Given the description of an element on the screen output the (x, y) to click on. 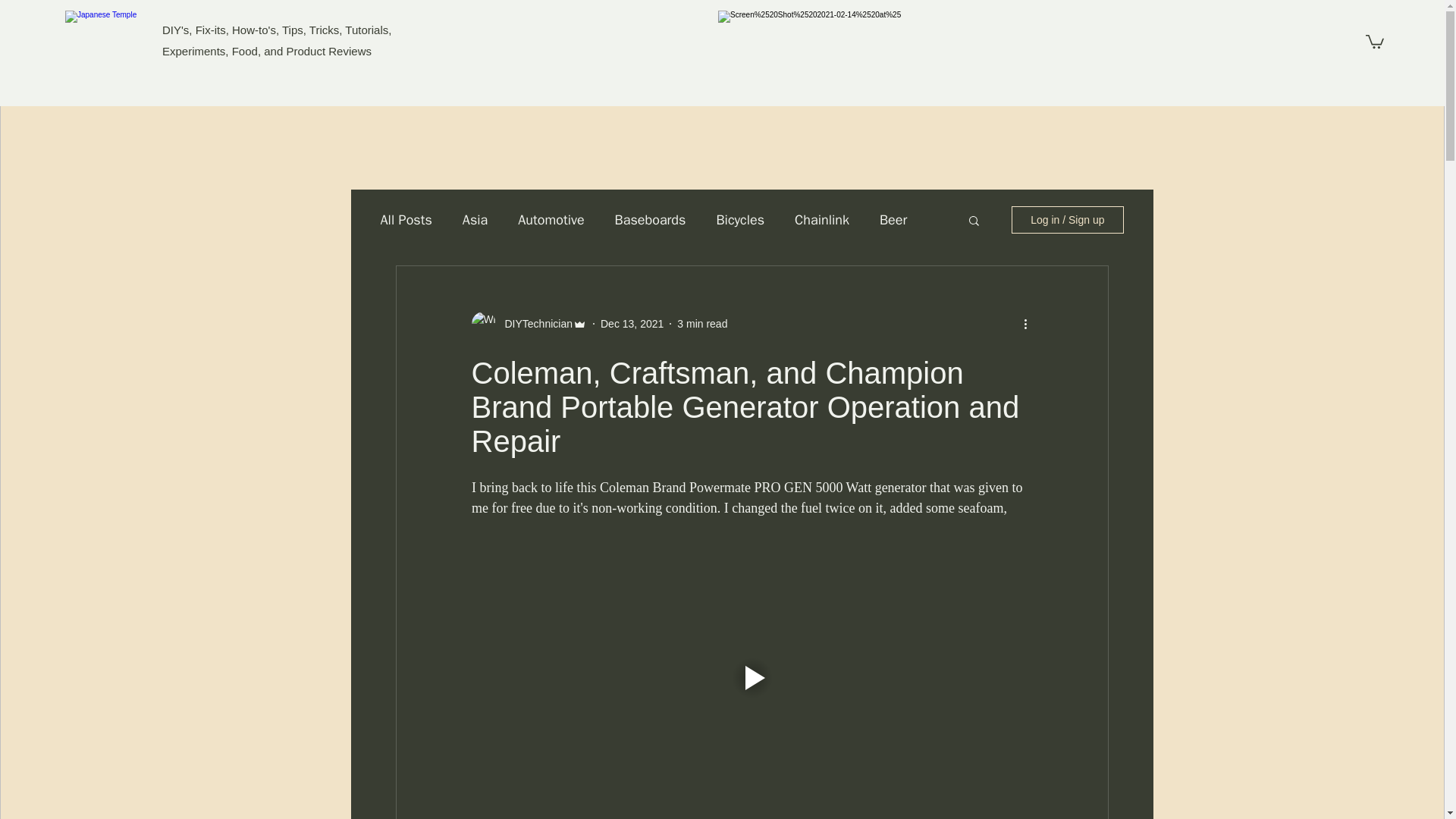
Chainlink (821, 219)
Asia (475, 219)
3 min read (701, 323)
Beer (893, 219)
Dec 13, 2021 (631, 323)
Baseboards (649, 219)
All Posts (406, 219)
Automotive (550, 219)
Bicycles (740, 219)
DIYTechnician (534, 324)
